Given the description of an element on the screen output the (x, y) to click on. 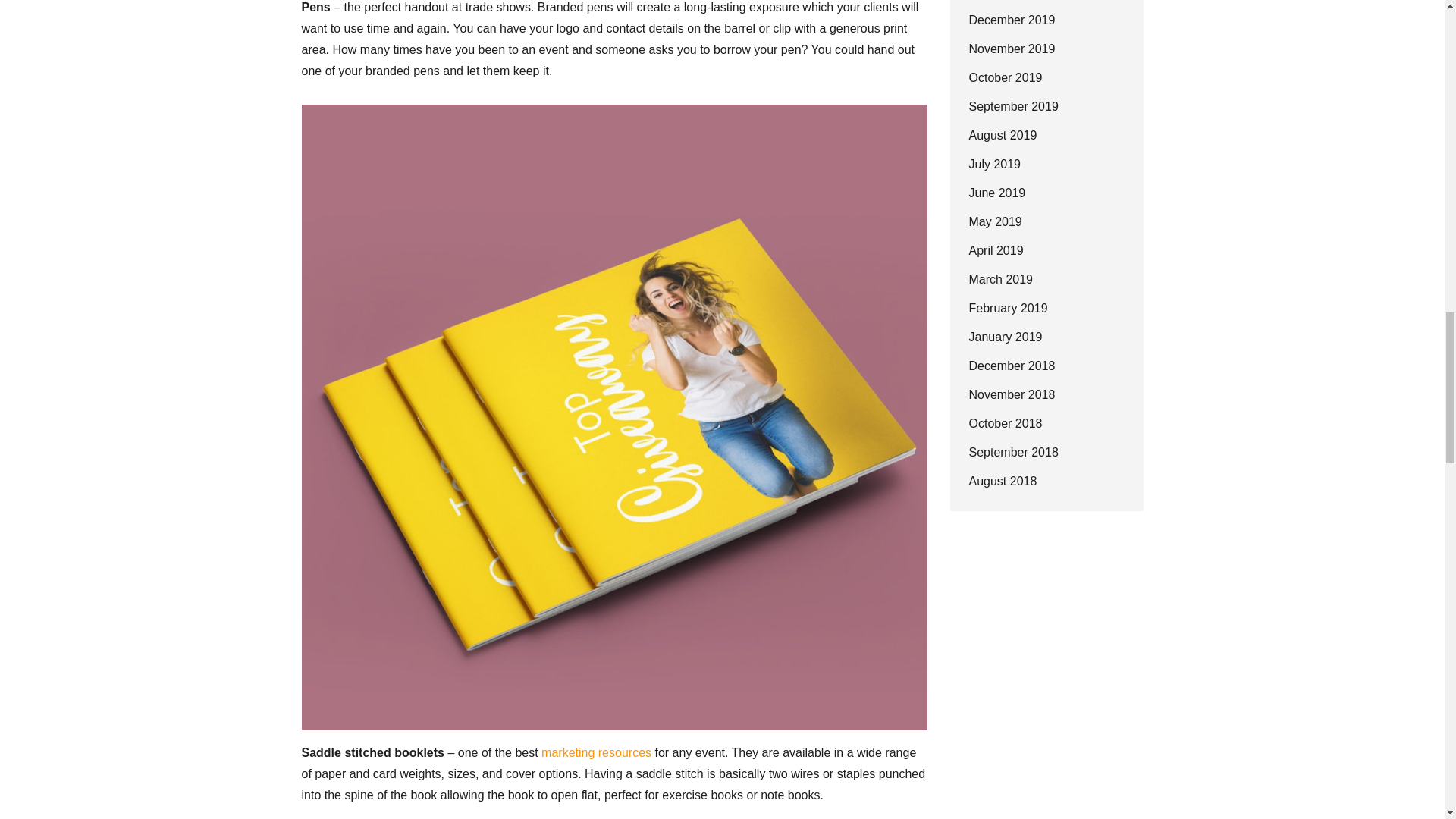
marketing resources (595, 752)
